Given the description of an element on the screen output the (x, y) to click on. 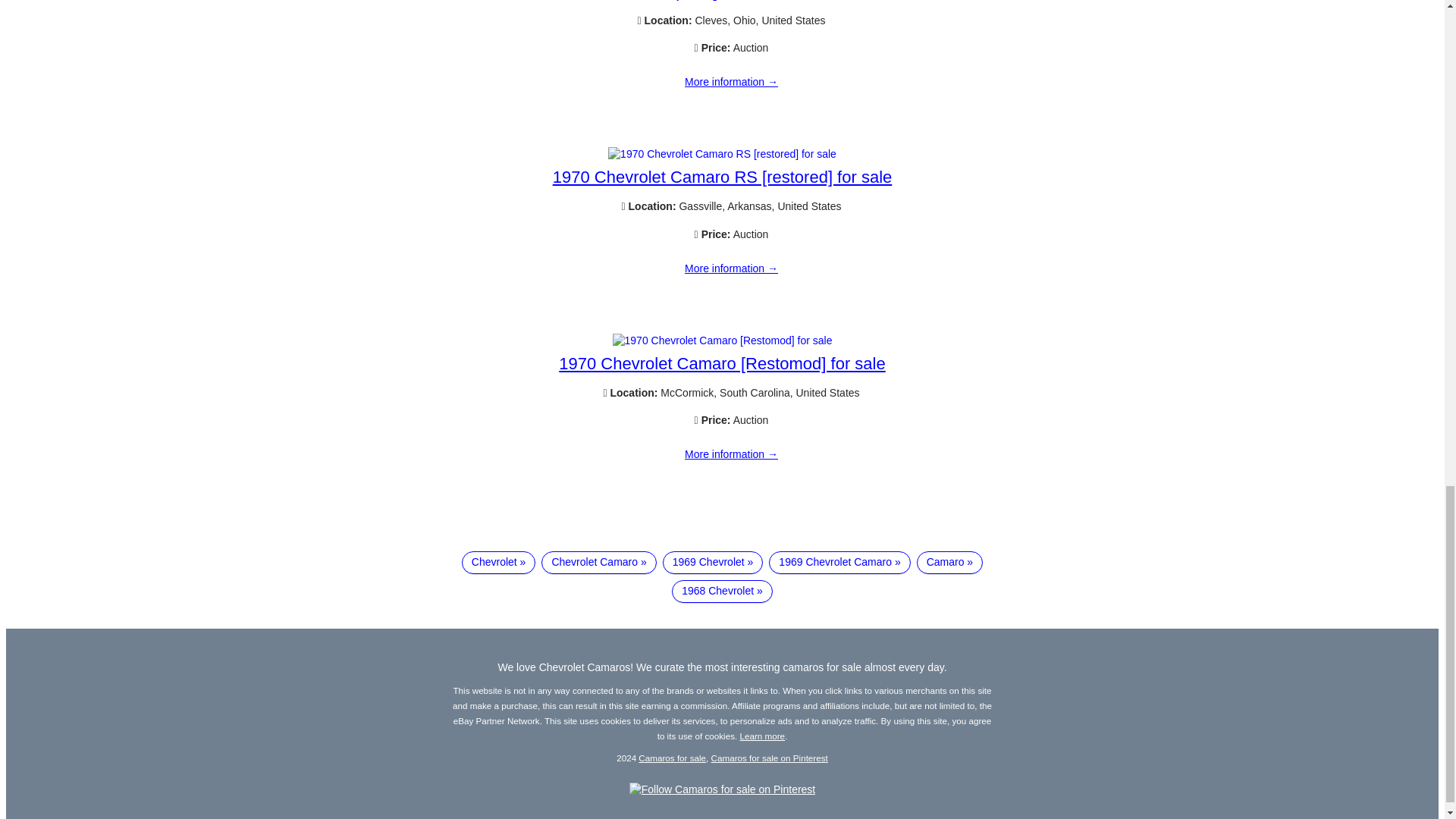
Chevrolet (498, 562)
Follow Camaros for sale on Pinterest (721, 788)
Learn more (762, 736)
1969 Chevrolet Camaro (839, 562)
Camaros for sale on Pinterest (769, 757)
Camaros for sale (672, 757)
Chevrolet Camaro (598, 562)
1969 Chevrolet (712, 562)
Camaro (949, 562)
1968 Chevrolet (722, 590)
